Given the description of an element on the screen output the (x, y) to click on. 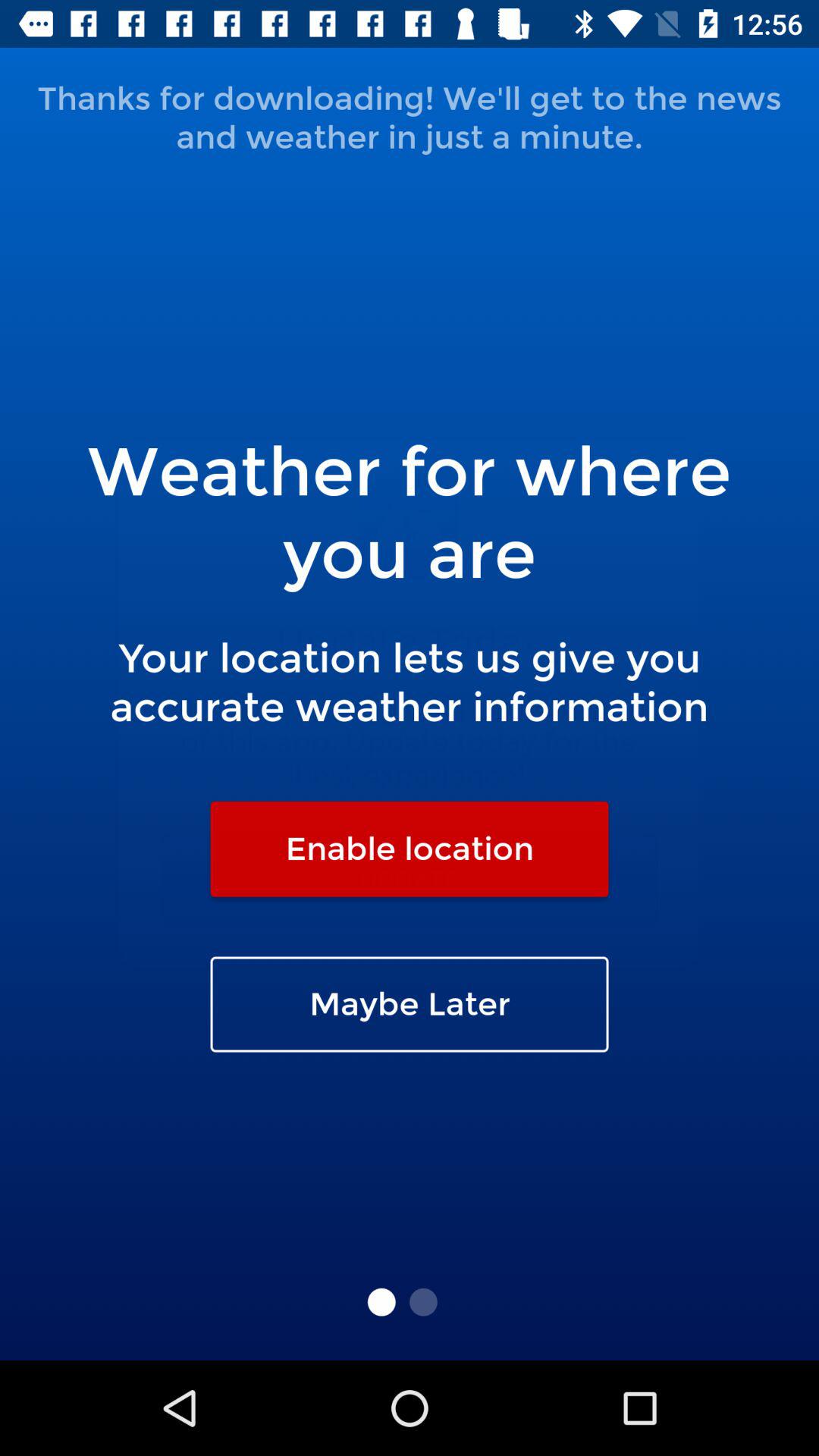
jump to the enable location (409, 848)
